Given the description of an element on the screen output the (x, y) to click on. 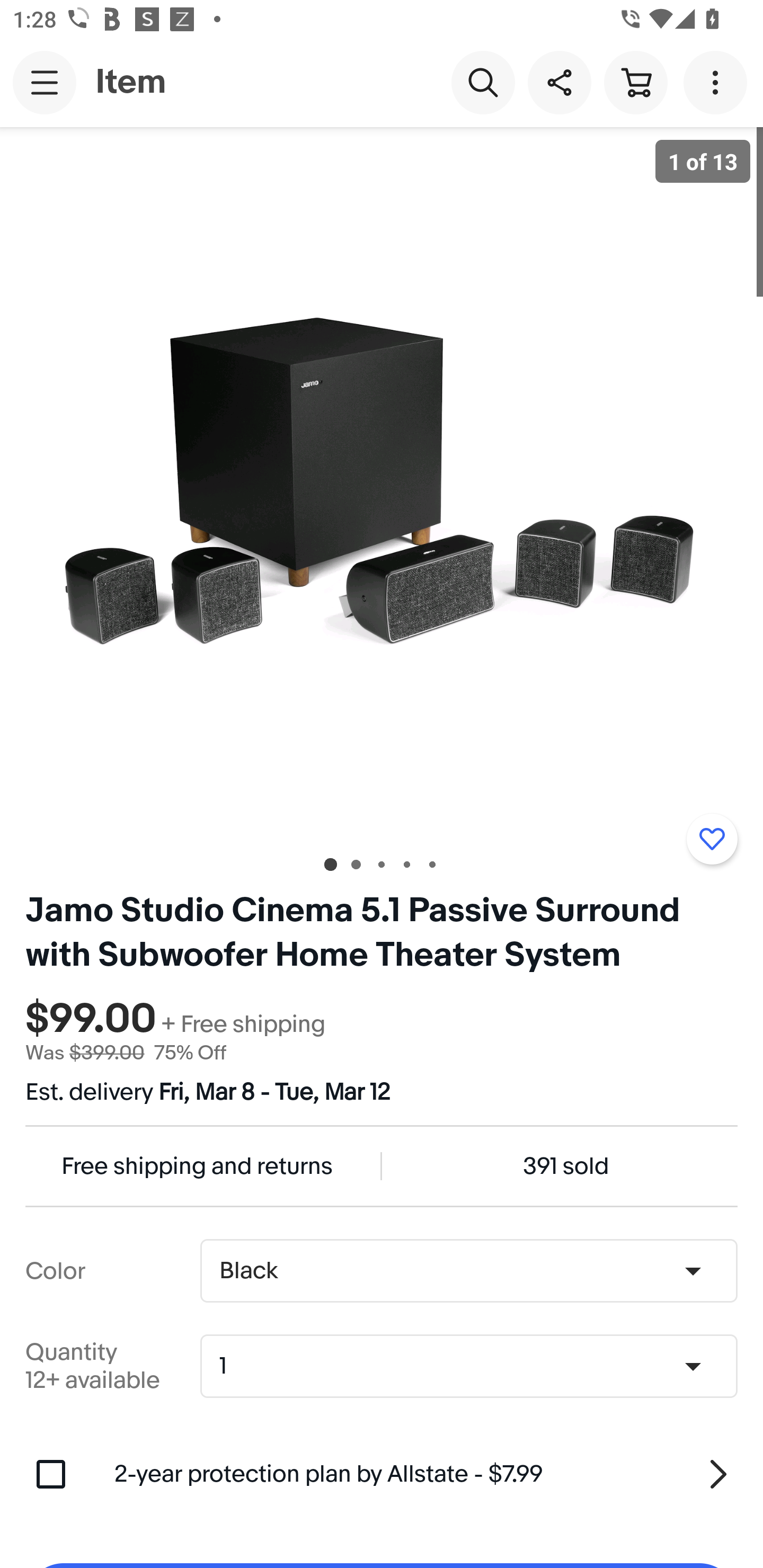
Main navigation, open (44, 82)
Search (482, 81)
Share this item (559, 81)
Cart button shopping cart (635, 81)
More options (718, 81)
Item image 1 of 13 (381, 482)
Add to watchlist (711, 838)
Color,Black Black (468, 1270)
Quantity,1,12+ available 1 (474, 1365)
2-year protection plan by Allstate - $7.99 (425, 1473)
